Given the description of an element on the screen output the (x, y) to click on. 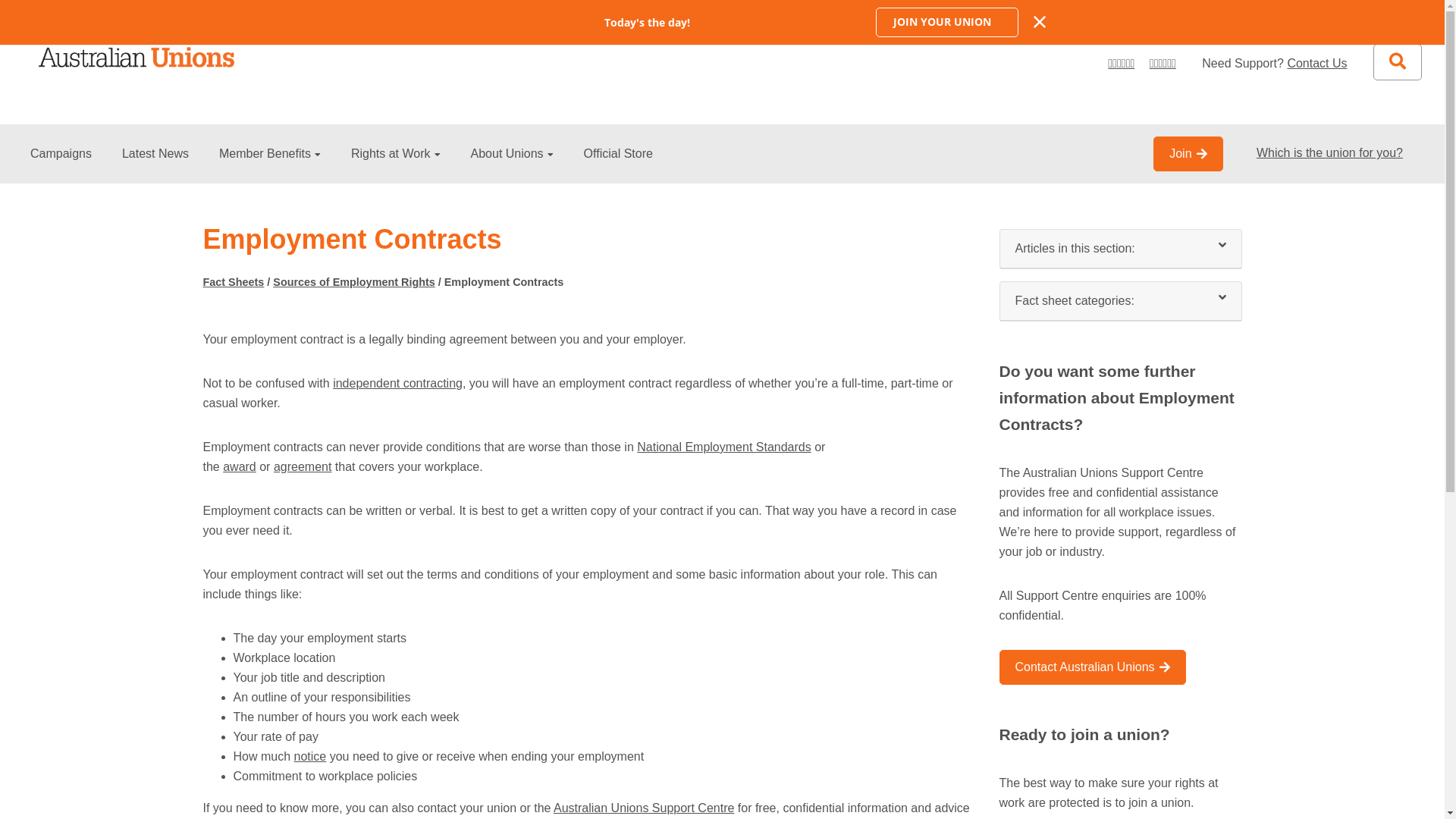
Which is the union for you? Element type: text (1329, 152)
Latest News Element type: text (155, 164)
Articles in this section: Element type: text (1119, 248)
agreement Element type: text (302, 466)
Rights at Work Element type: text (395, 164)
Australian Unions Support Centre Element type: text (643, 807)
notice Element type: text (310, 755)
Official Store Element type: text (618, 164)
Contact Australian Unions Element type: text (1092, 666)
Contact Us Element type: text (1316, 62)
award Element type: text (239, 466)
About Unions Element type: text (512, 164)
Sources of Employment Rights Element type: text (354, 282)
Join Element type: text (1187, 153)
independent contracting Element type: text (397, 382)
Member Benefits Element type: text (269, 164)
National Employment Standards Element type: text (723, 446)
Fact sheet categories: Element type: text (1119, 300)
Fact Sheets Element type: text (233, 282)
Campaigns Element type: text (60, 164)
